Given the description of an element on the screen output the (x, y) to click on. 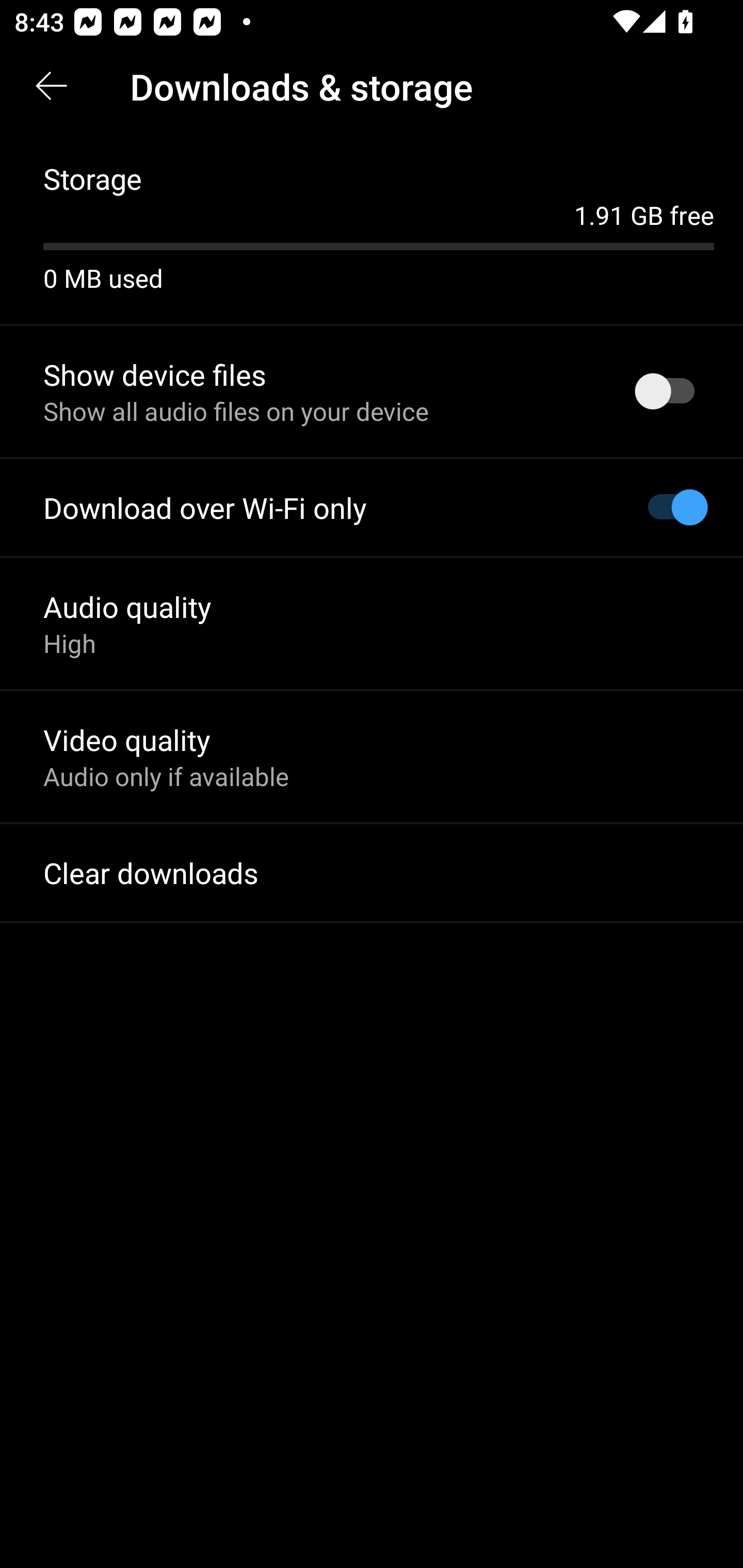
Back (50, 86)
Download over Wi-Fi only (371, 507)
Audio quality High (371, 623)
Video quality Audio only if available (371, 756)
Clear downloads (371, 872)
